Given the description of an element on the screen output the (x, y) to click on. 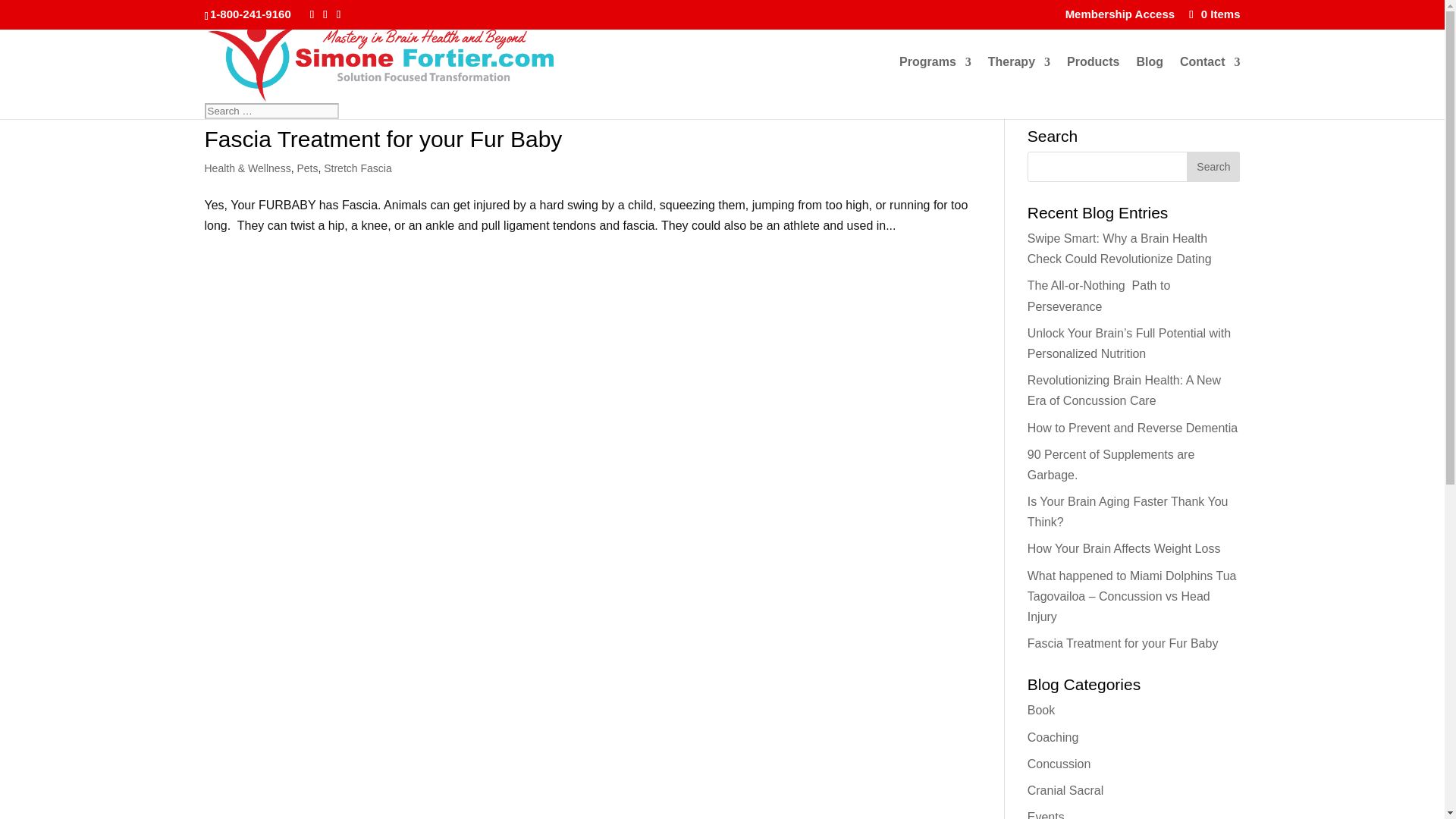
Pets (307, 168)
Contact (1209, 78)
Search for: (272, 110)
1-800-241-9160 (250, 13)
Search (1213, 166)
Membership Access (1119, 17)
Therapy (1018, 78)
Products (1093, 78)
Fascia Treatment for your Fur Baby (383, 138)
0 Items (1213, 13)
